Given the description of an element on the screen output the (x, y) to click on. 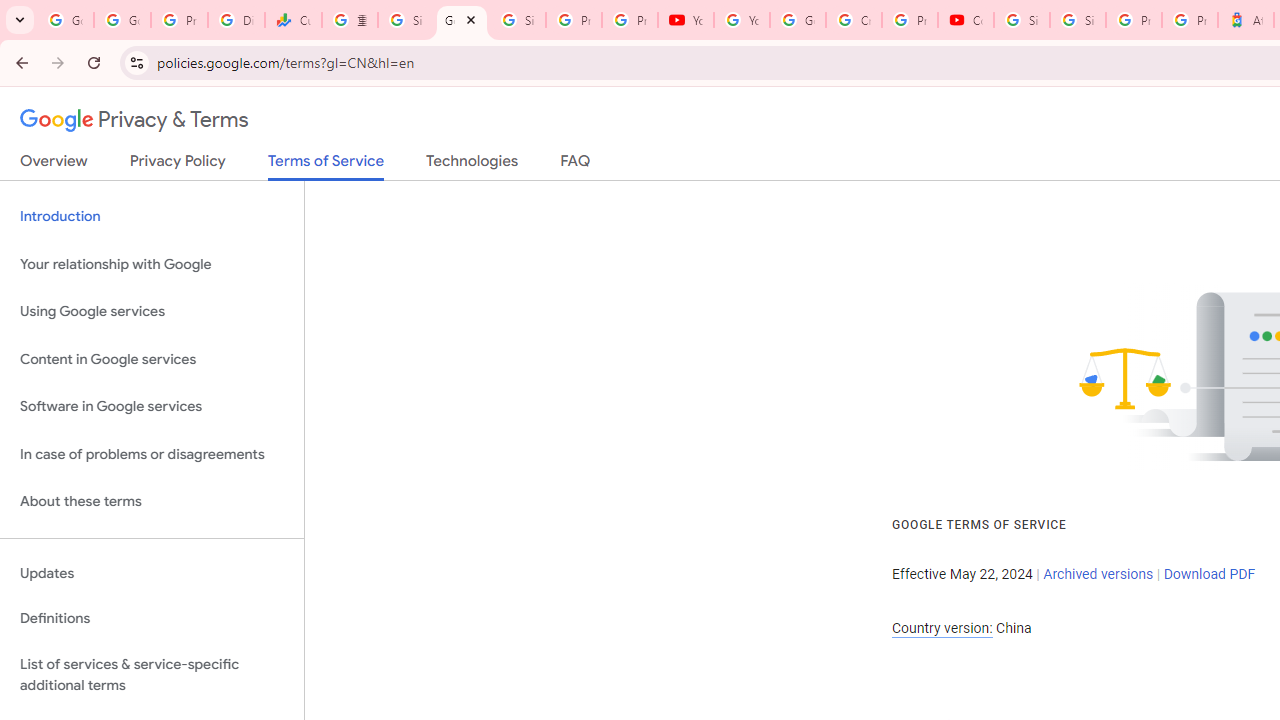
Country version: (942, 628)
In case of problems or disagreements (152, 453)
Archived versions (1098, 574)
